Given the description of an element on the screen output the (x, y) to click on. 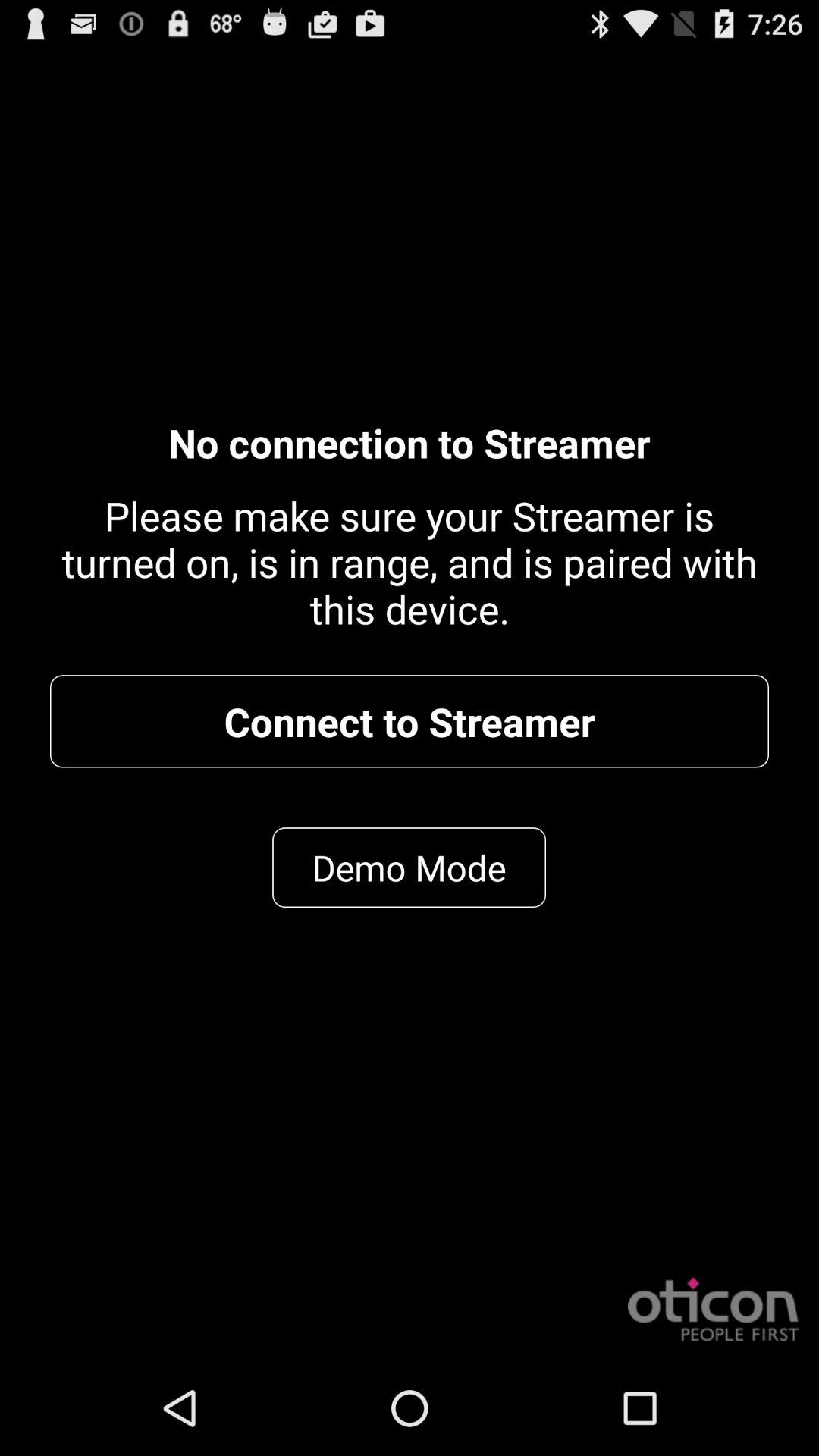
turn off item below connect to streamer (409, 867)
